Given the description of an element on the screen output the (x, y) to click on. 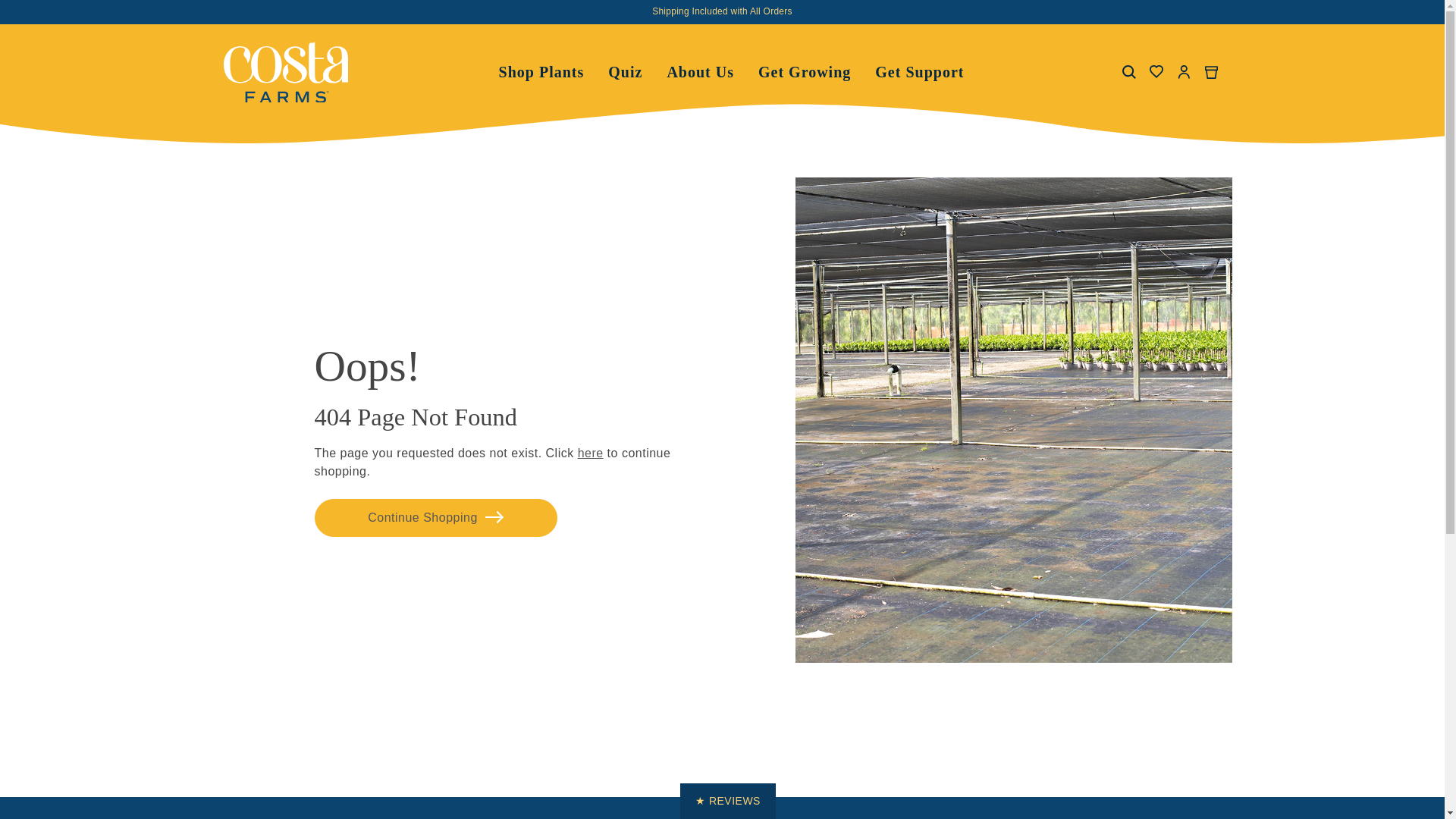
My Account (1182, 72)
Get Growing (919, 71)
Search (804, 71)
